Given the description of an element on the screen output the (x, y) to click on. 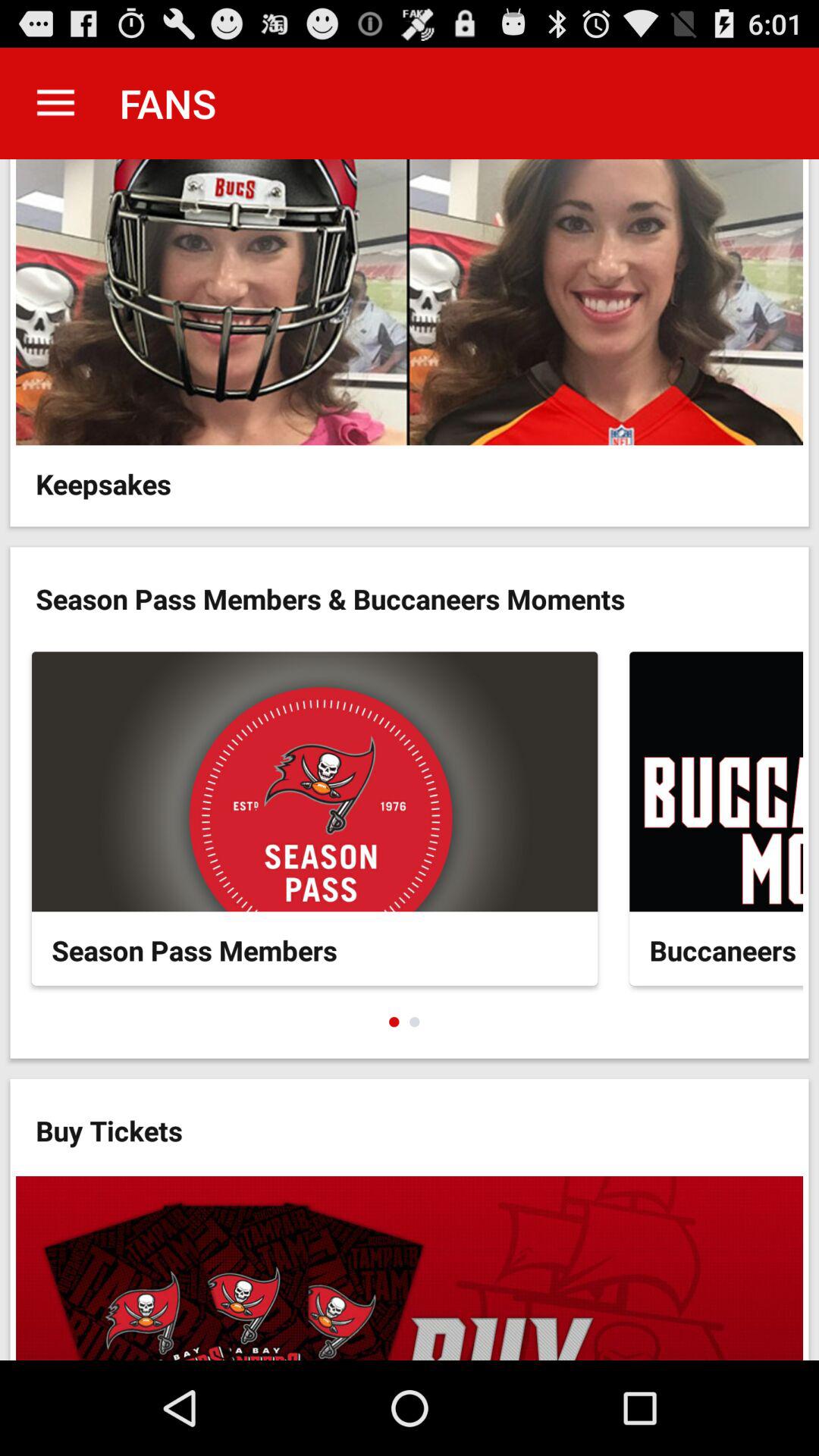
click item to the left of the fans (55, 103)
